Given the description of an element on the screen output the (x, y) to click on. 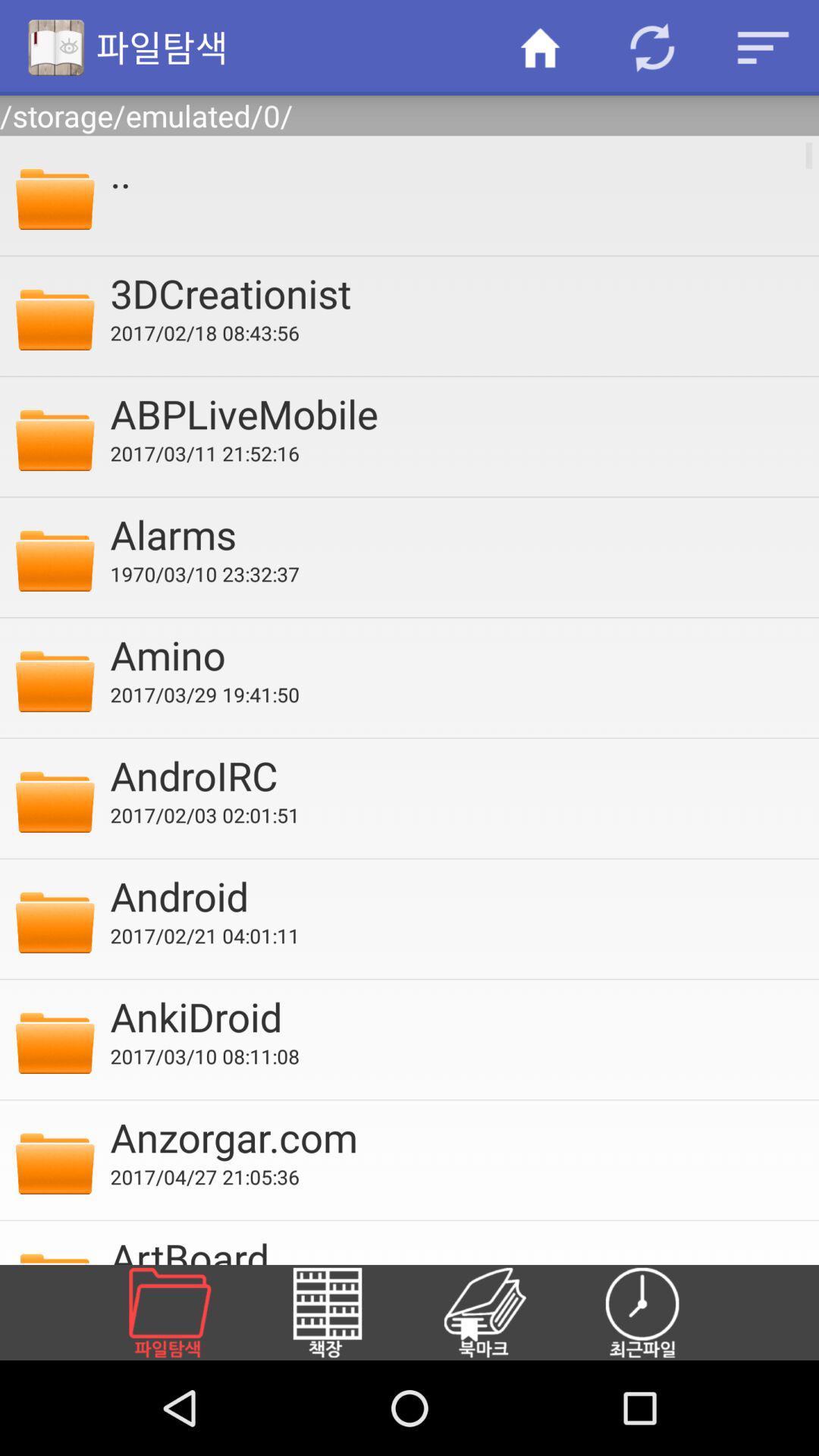
file directory (187, 1312)
